Given the description of an element on the screen output the (x, y) to click on. 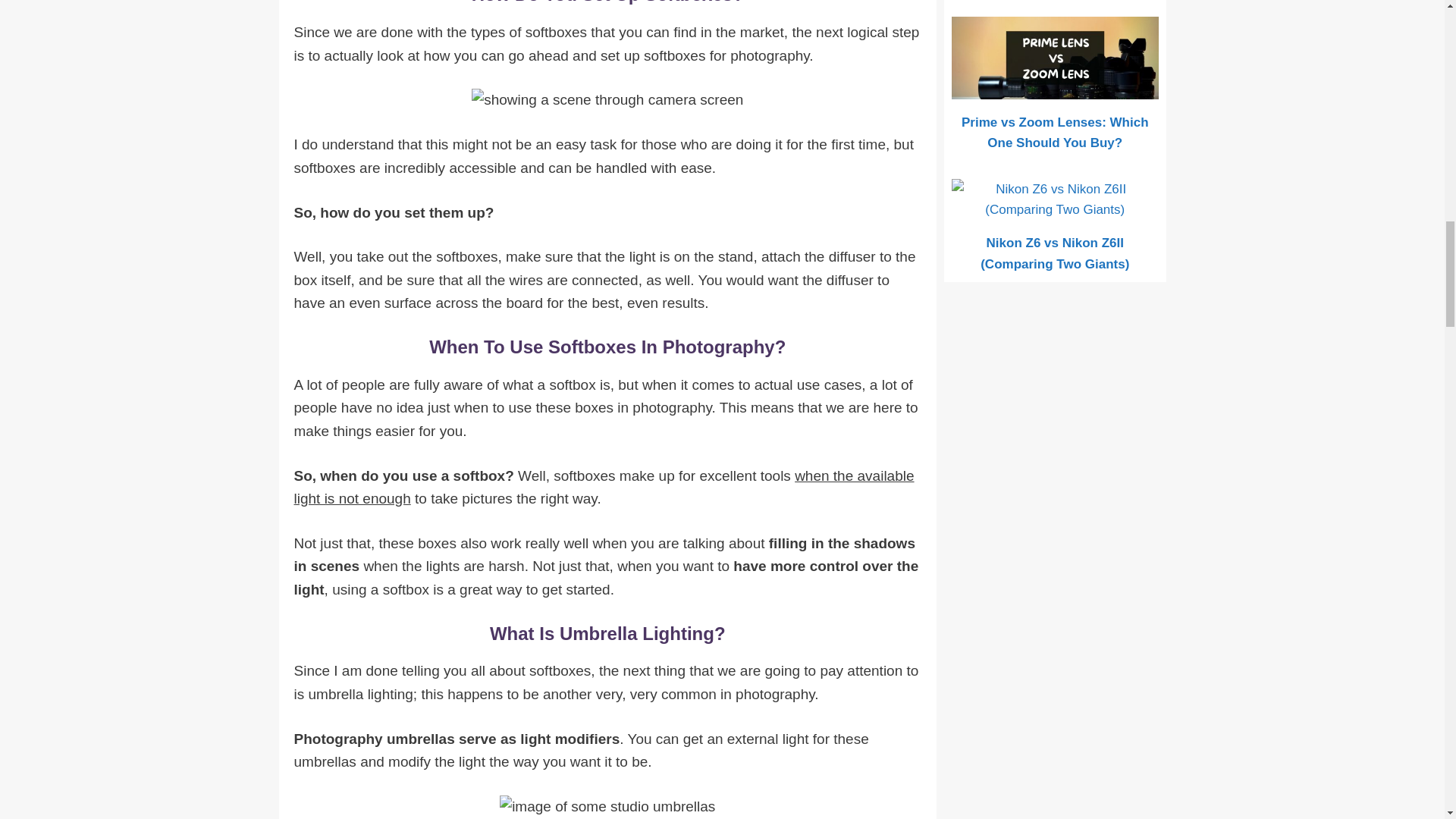
Prime vs Zoom Lenses: Which One Should You Buy? (1055, 88)
